Given the description of an element on the screen output the (x, y) to click on. 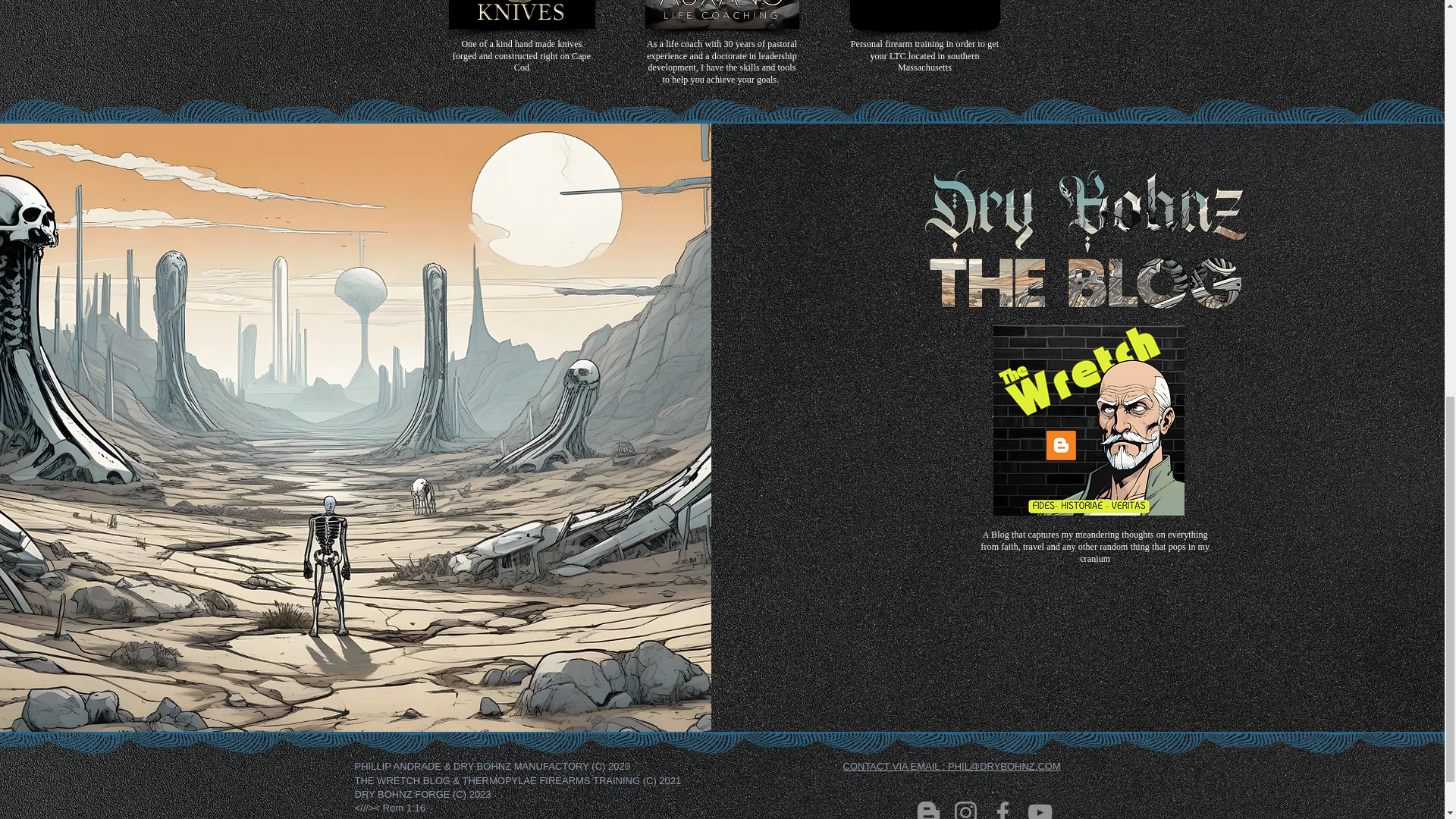
thermopylaesquare.jpg (923, 15)
wretch logo square trans.png (1088, 419)
DRYBOHNZKNIVES STICKER.png (521, 14)
